Given the description of an element on the screen output the (x, y) to click on. 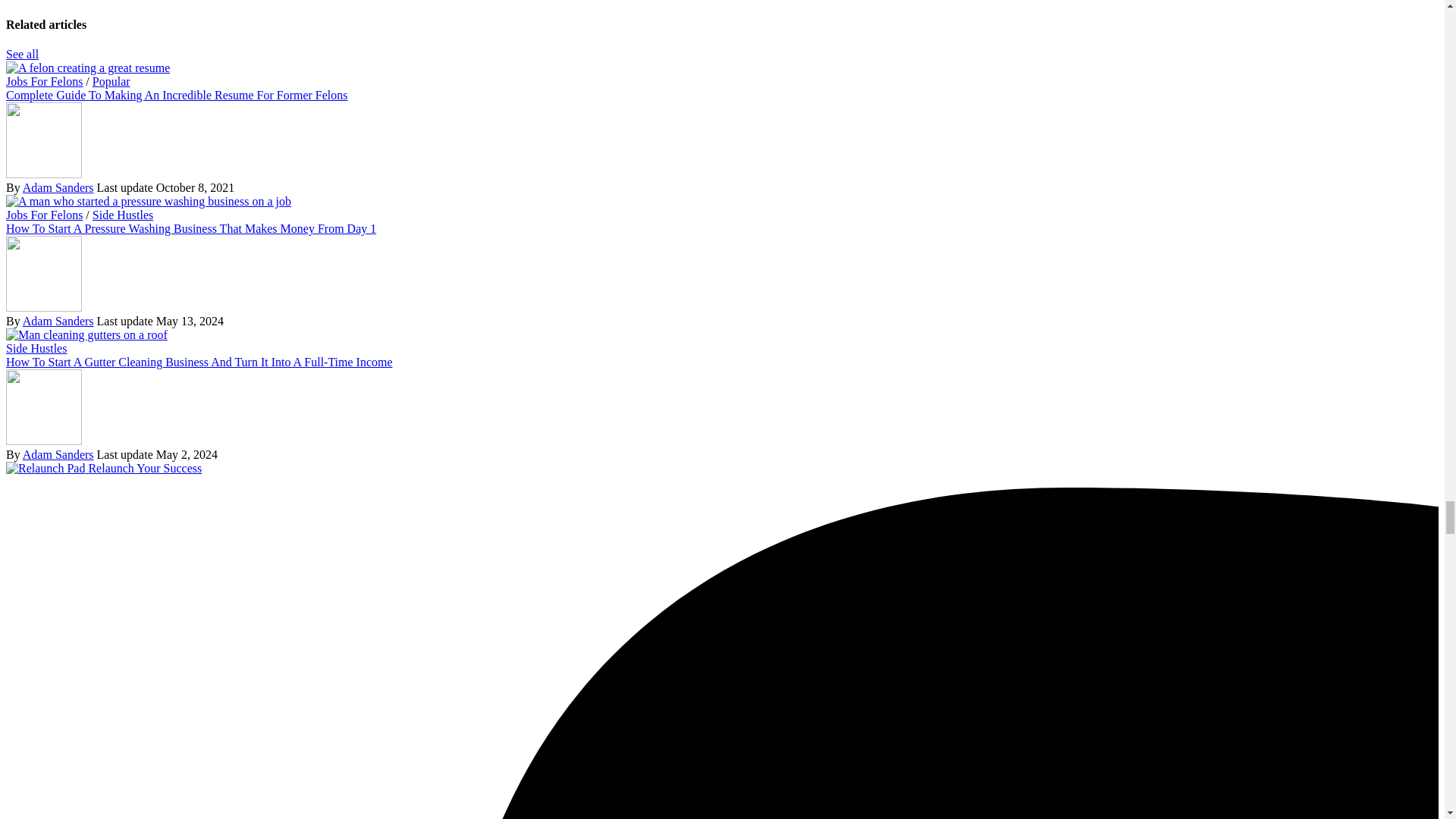
Popular (112, 81)
See all (22, 53)
Jobs For Felons (43, 81)
